Given the description of an element on the screen output the (x, y) to click on. 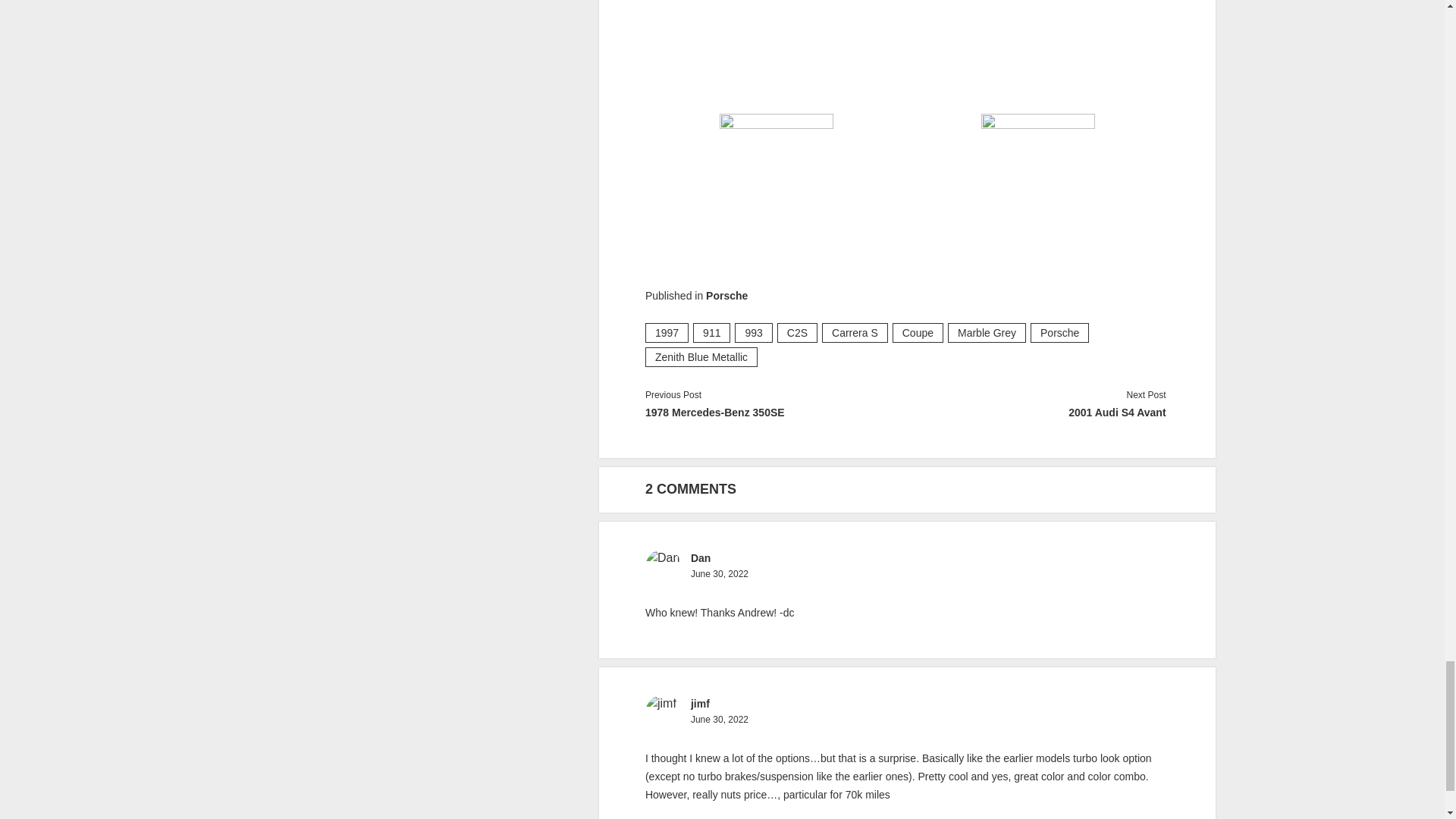
1978 Mercedes-Benz 350SE (776, 412)
2001 Audi S4 Avant (1035, 412)
911 (711, 332)
Porsche (727, 295)
993 (753, 332)
View all posts in Porsche (727, 295)
Carrera S (855, 332)
View all posts tagged Porsche (1059, 332)
View all posts tagged 1997 (666, 332)
Marble Grey (986, 332)
View all posts tagged 911 (711, 332)
Coupe (917, 332)
Zenith Blue Metallic (701, 356)
1997 (666, 332)
View all posts tagged Zenith Blue Metallic (701, 356)
